Given the description of an element on the screen output the (x, y) to click on. 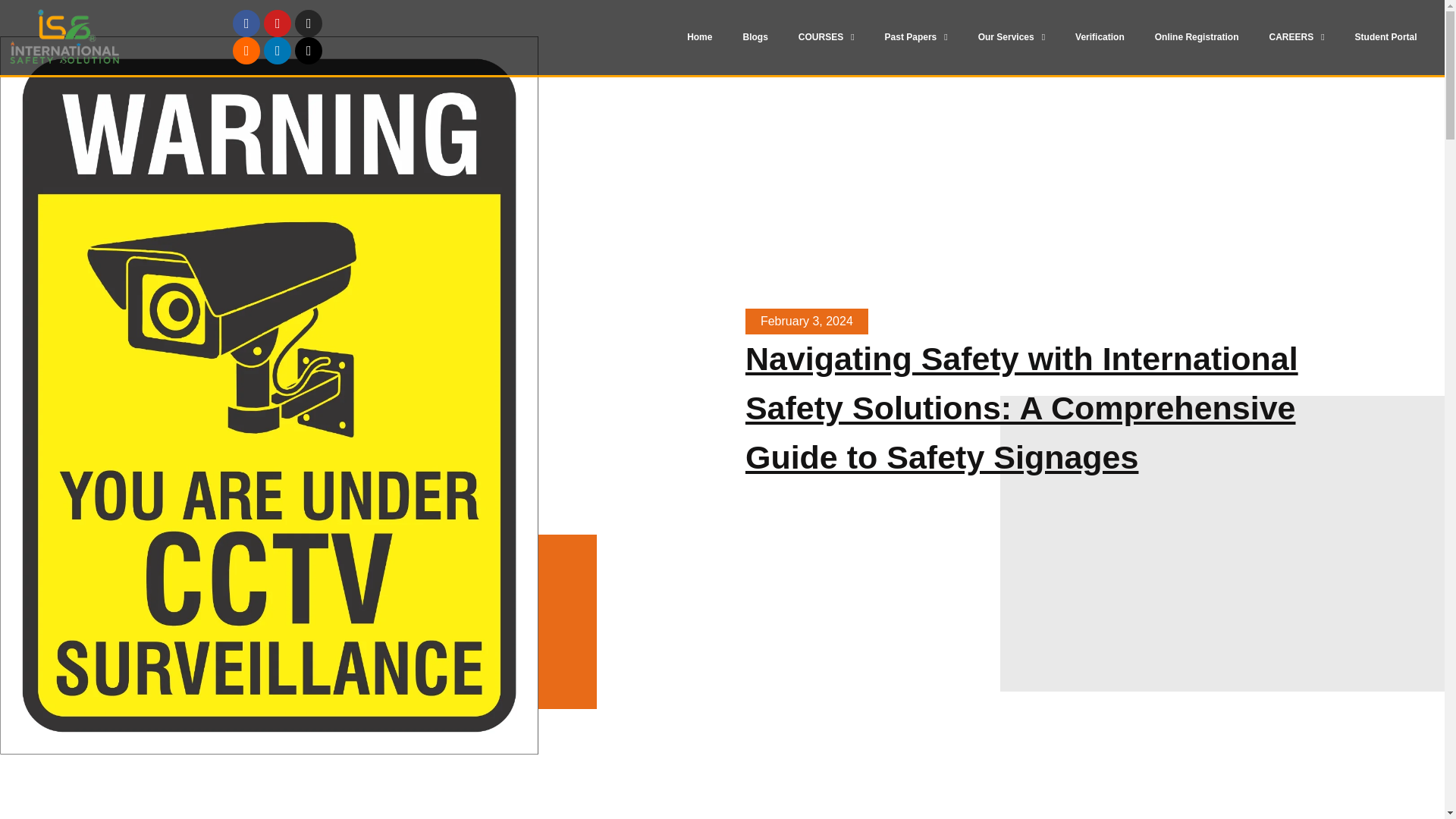
Blogs (754, 36)
COURSES (826, 36)
Home (698, 36)
Past Papers (915, 36)
